Given the description of an element on the screen output the (x, y) to click on. 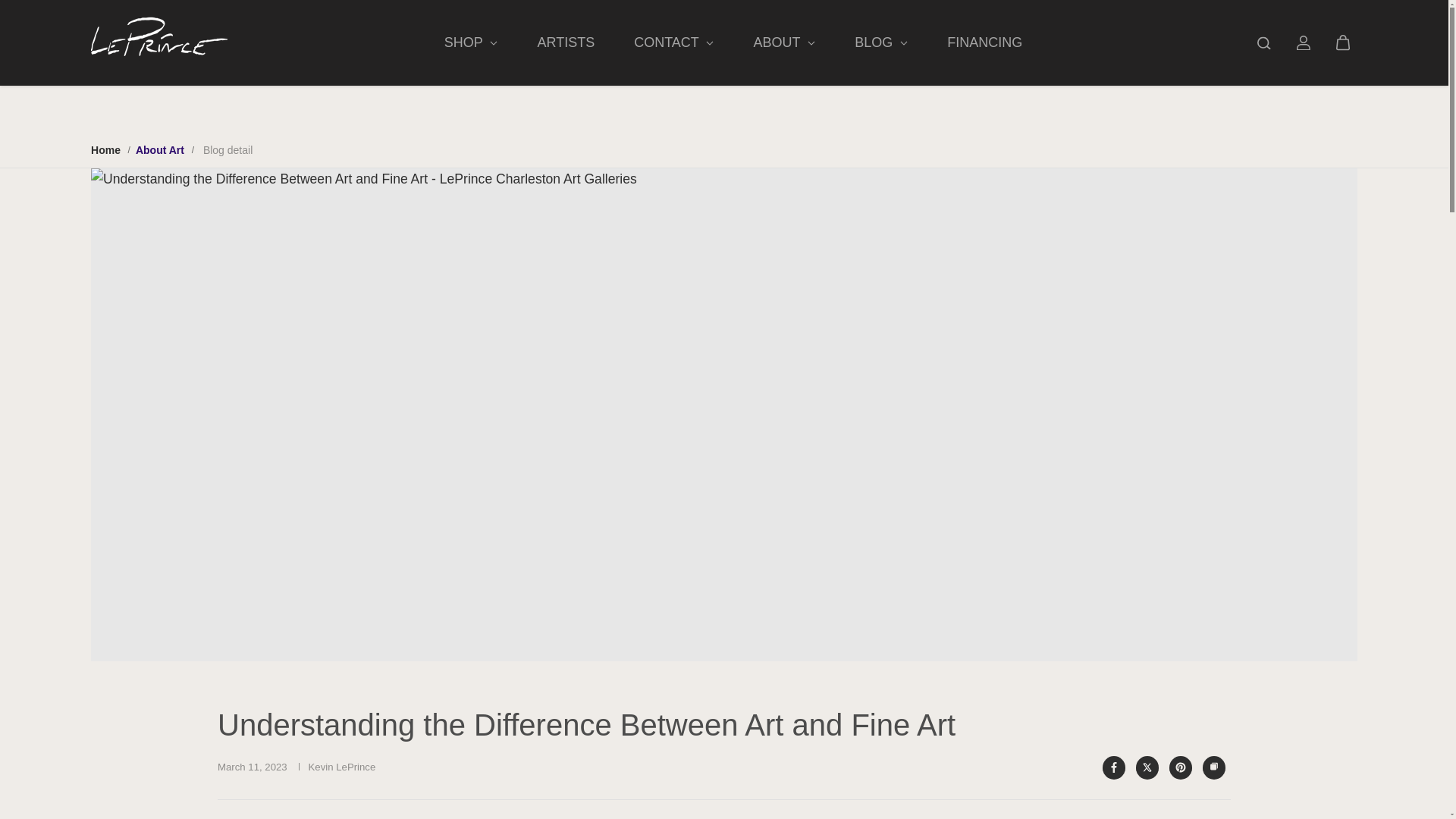
ABOUT (783, 42)
Log in (1302, 42)
CONTACT (673, 42)
Facebook (1114, 767)
ARTISTS (565, 42)
SHOP (470, 42)
Home (105, 149)
Search (1263, 42)
Pinterest (1179, 767)
Skip to content (64, 18)
